Given the description of an element on the screen output the (x, y) to click on. 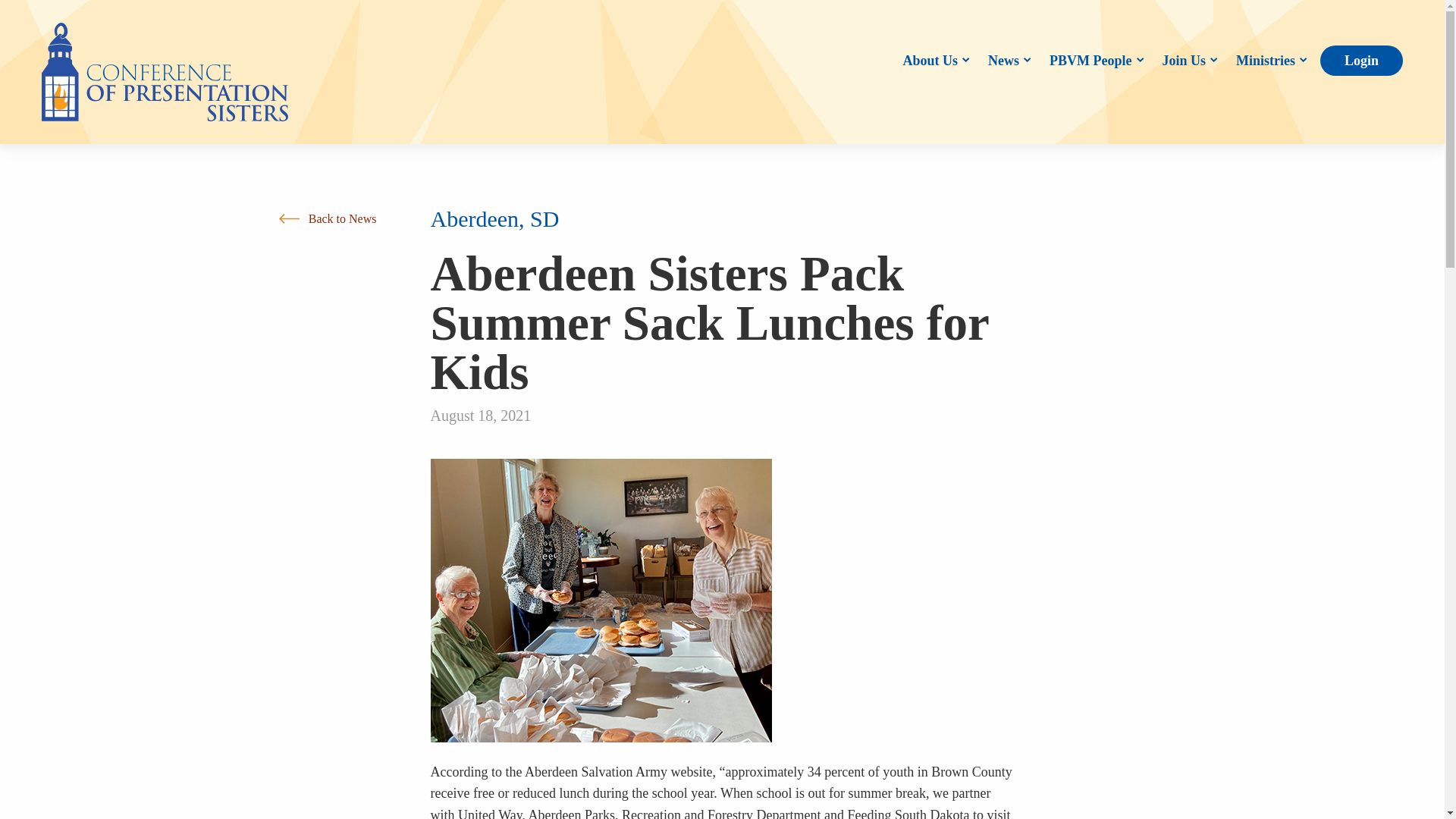
About Us (932, 60)
PBVM People (1093, 60)
News (1005, 60)
